Given the description of an element on the screen output the (x, y) to click on. 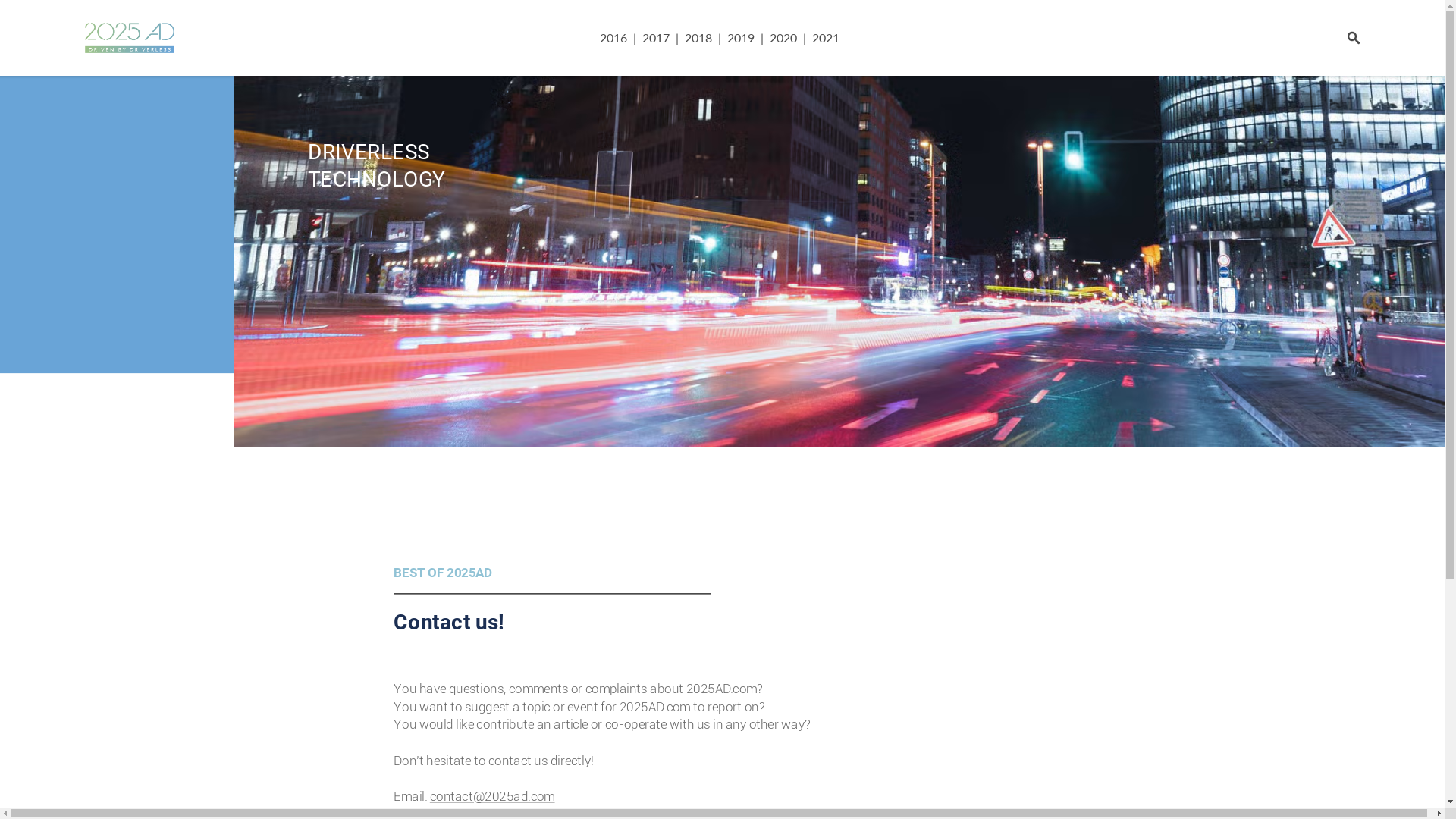
2025AD.com Element type: text (649, 705)
2021 Element type: text (824, 37)
2018 Element type: text (697, 37)
2019 Element type: text (739, 37)
2017 Element type: text (654, 37)
2025AD.com Element type: text (716, 686)
2020 Element type: text (782, 37)
2016 Element type: text (615, 37)
contact@2025ad.com Element type: text (482, 795)
